Given the description of an element on the screen output the (x, y) to click on. 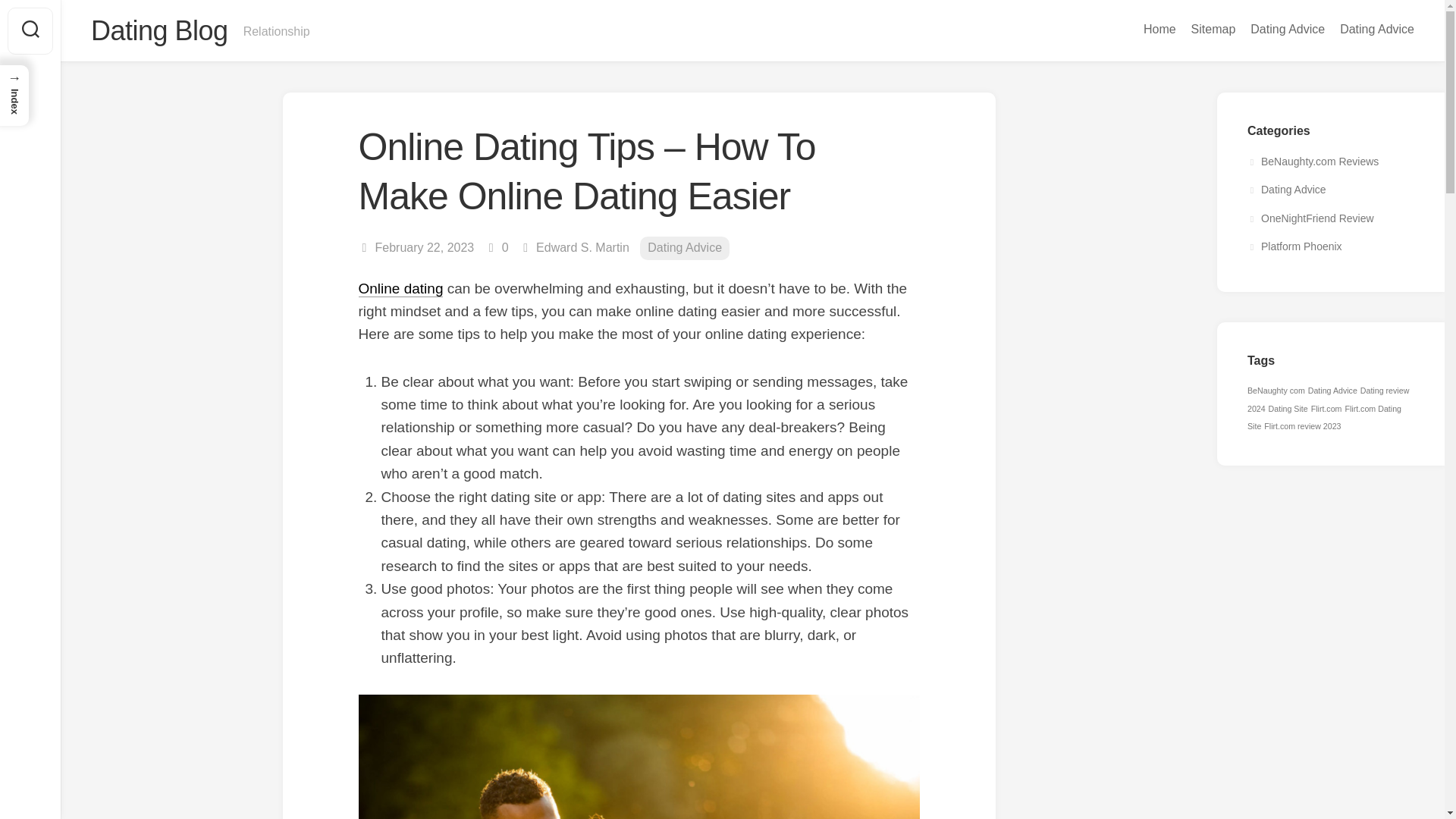
Dating Advice (684, 248)
Dating Advice (1376, 29)
Posts by Edward S. Martin (581, 246)
Dating Blog (159, 31)
Sitemap (1213, 29)
Dating Advice (1287, 29)
Online dating (400, 288)
Edward S. Martin (581, 246)
Home (1159, 29)
